Given the description of an element on the screen output the (x, y) to click on. 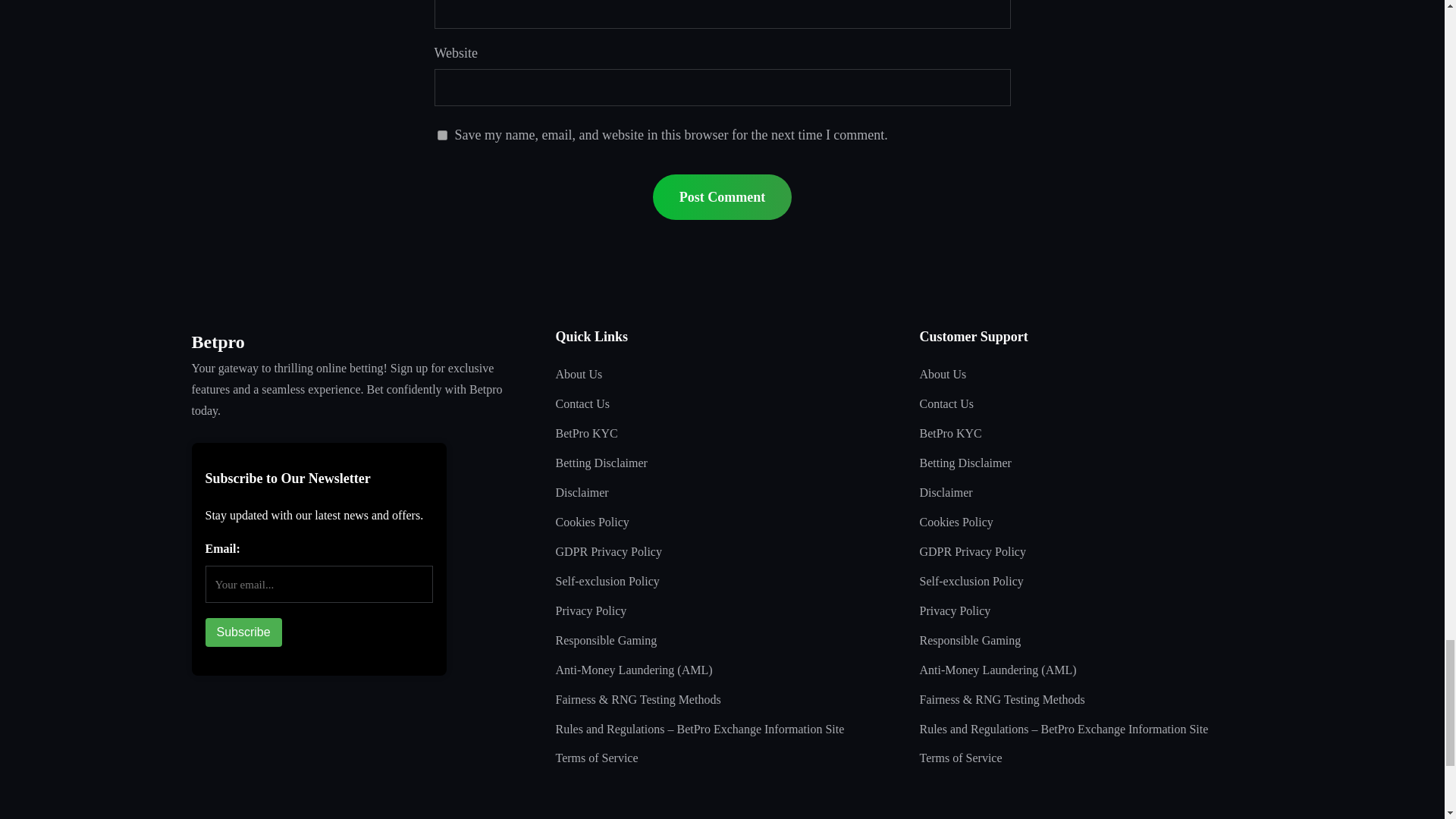
Betting Disclaimer (964, 463)
Betting Disclaimer (600, 463)
Terms of Service (595, 758)
Post Comment (722, 197)
Disclaimer (945, 492)
About Us (942, 374)
Responsible Gaming (969, 641)
BetPro KYC (949, 433)
Responsible Gaming (605, 641)
yes (441, 135)
